Given the description of an element on the screen output the (x, y) to click on. 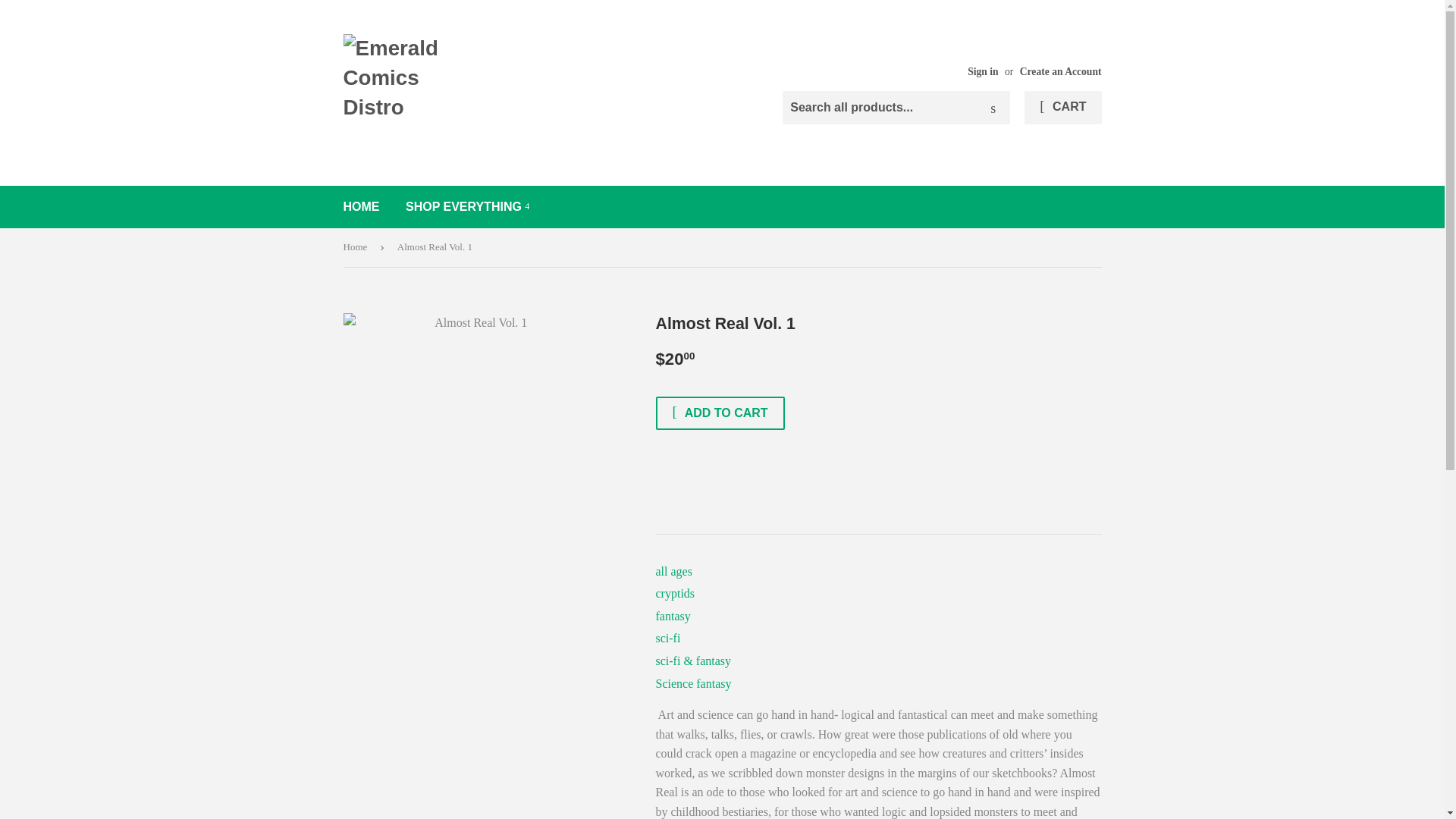
SHOP EVERYTHING (467, 206)
CART (1062, 107)
Create an Account (1061, 71)
Search (992, 108)
Sign in (982, 71)
HOME (361, 206)
